Given the description of an element on the screen output the (x, y) to click on. 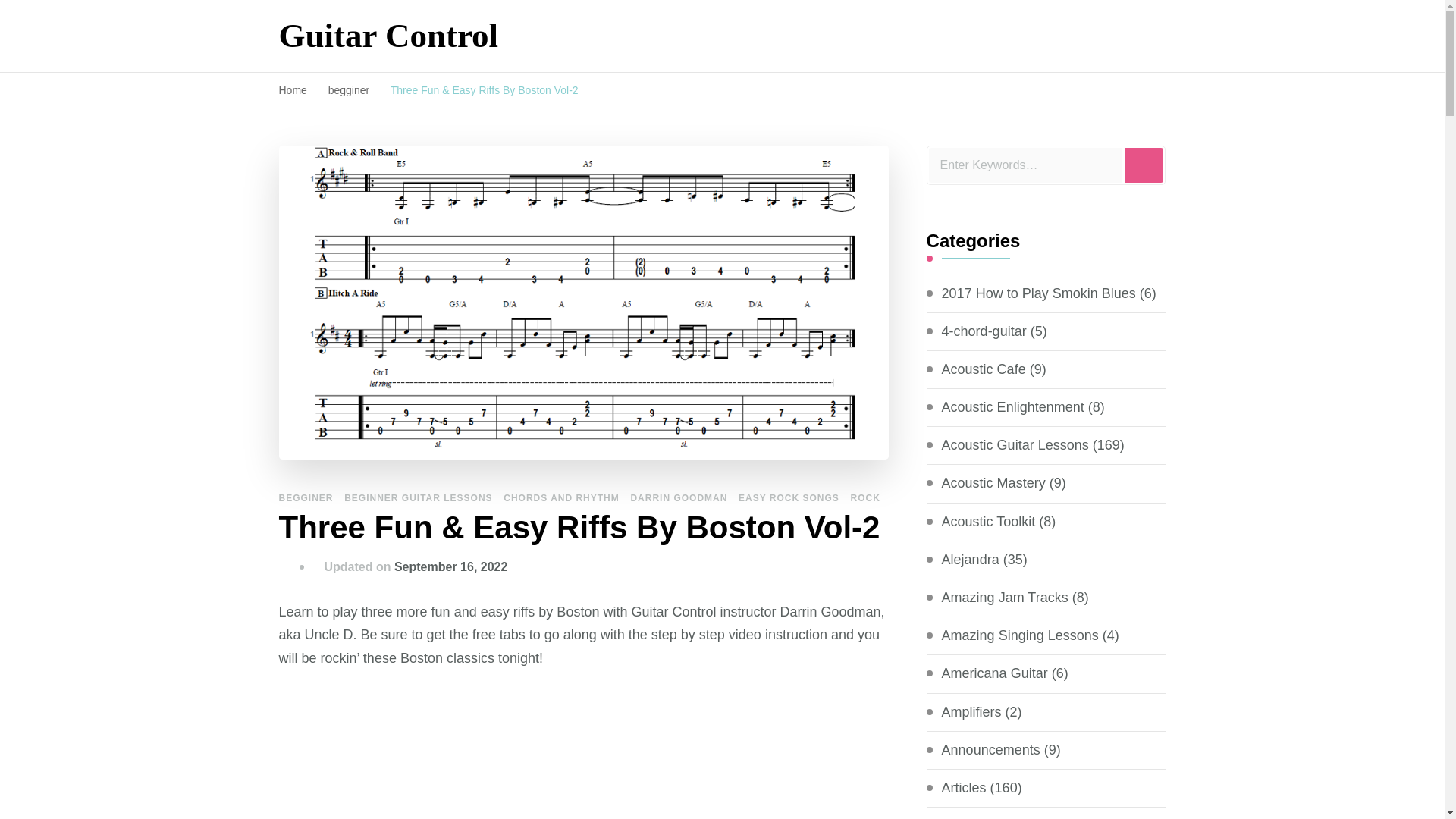
Acoustic Toolkit (988, 521)
Acoustic Cafe (984, 369)
September 16, 2022 (450, 566)
Search (1143, 165)
DARRIN GOODMAN (678, 498)
BEGINNER GUITAR LESSONS (417, 498)
Acoustic Enlightenment (1013, 407)
Search (1143, 165)
EASY ROCK SONGS (789, 498)
Acoustic Mastery (993, 483)
CHORDS AND RHYTHM (561, 498)
Guitar Control (389, 35)
begginer (350, 90)
2017 How to Play Smokin Blues (1038, 293)
BEGGINER (306, 498)
